Given the description of an element on the screen output the (x, y) to click on. 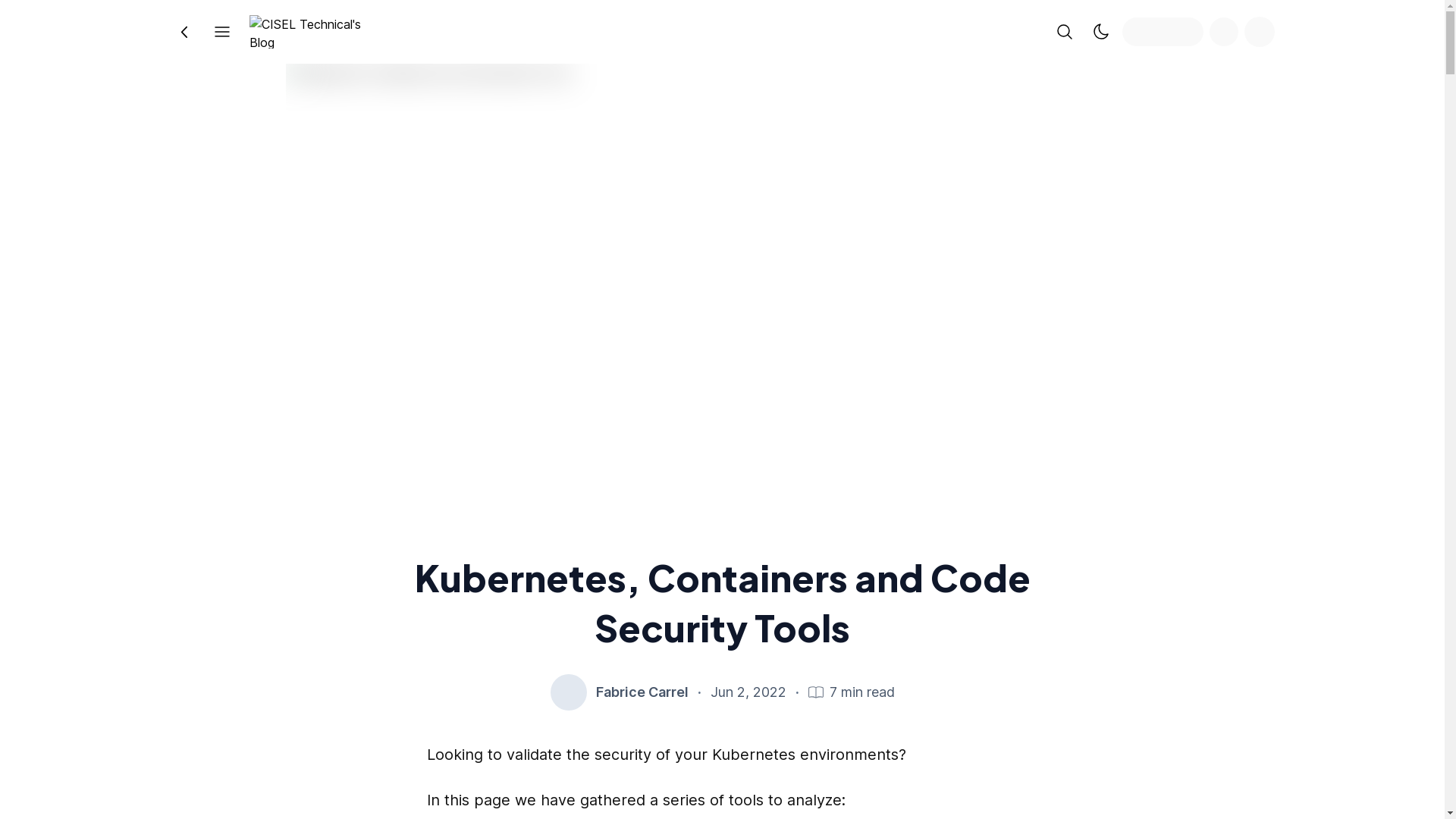
Fabrice Carrel Element type: text (642, 691)
Jun 2, 2022 Element type: text (747, 691)
